Given the description of an element on the screen output the (x, y) to click on. 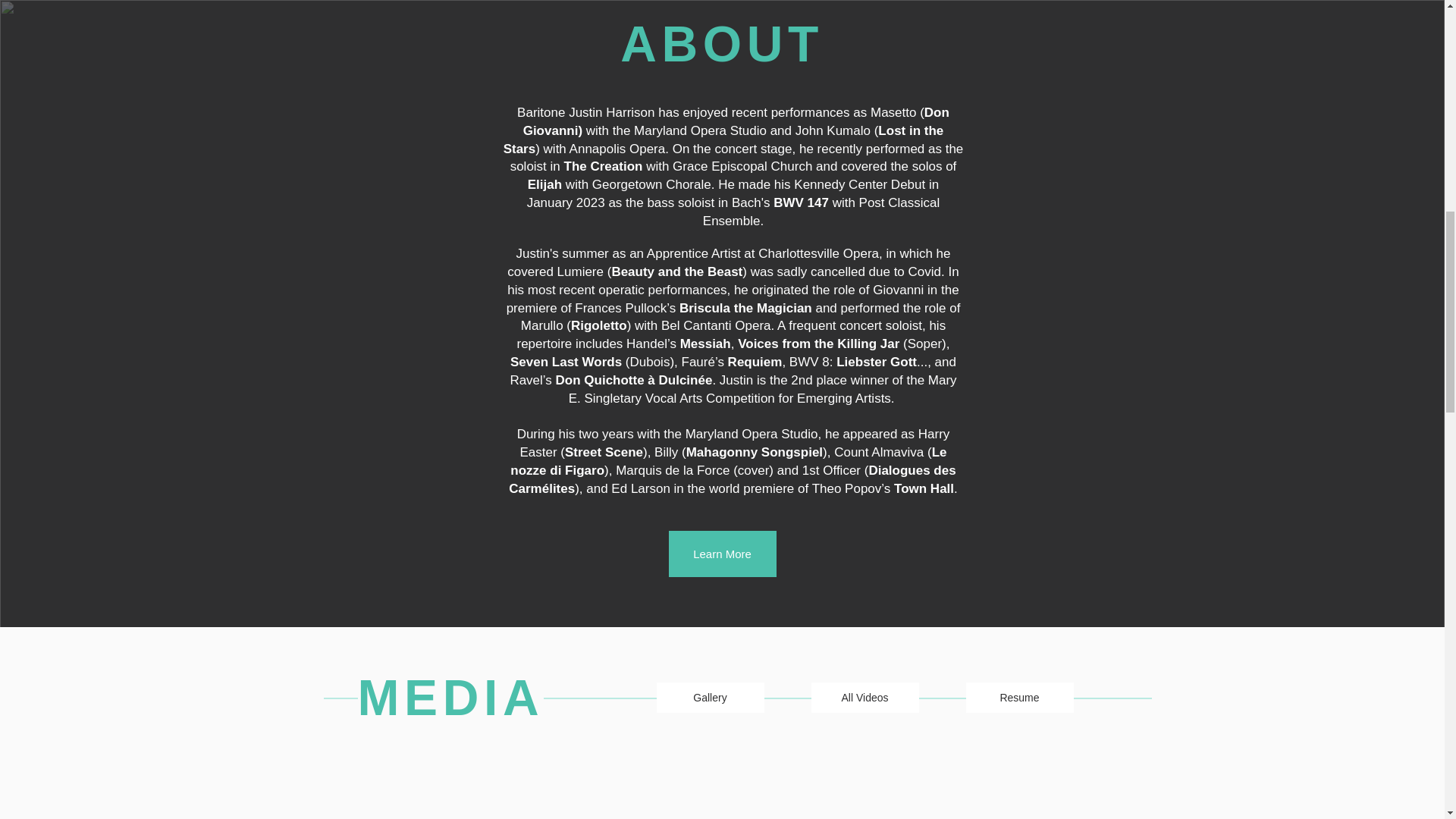
Resume (1020, 697)
Learn More (722, 553)
Gallery (710, 697)
All Videos (864, 697)
